Given the description of an element on the screen output the (x, y) to click on. 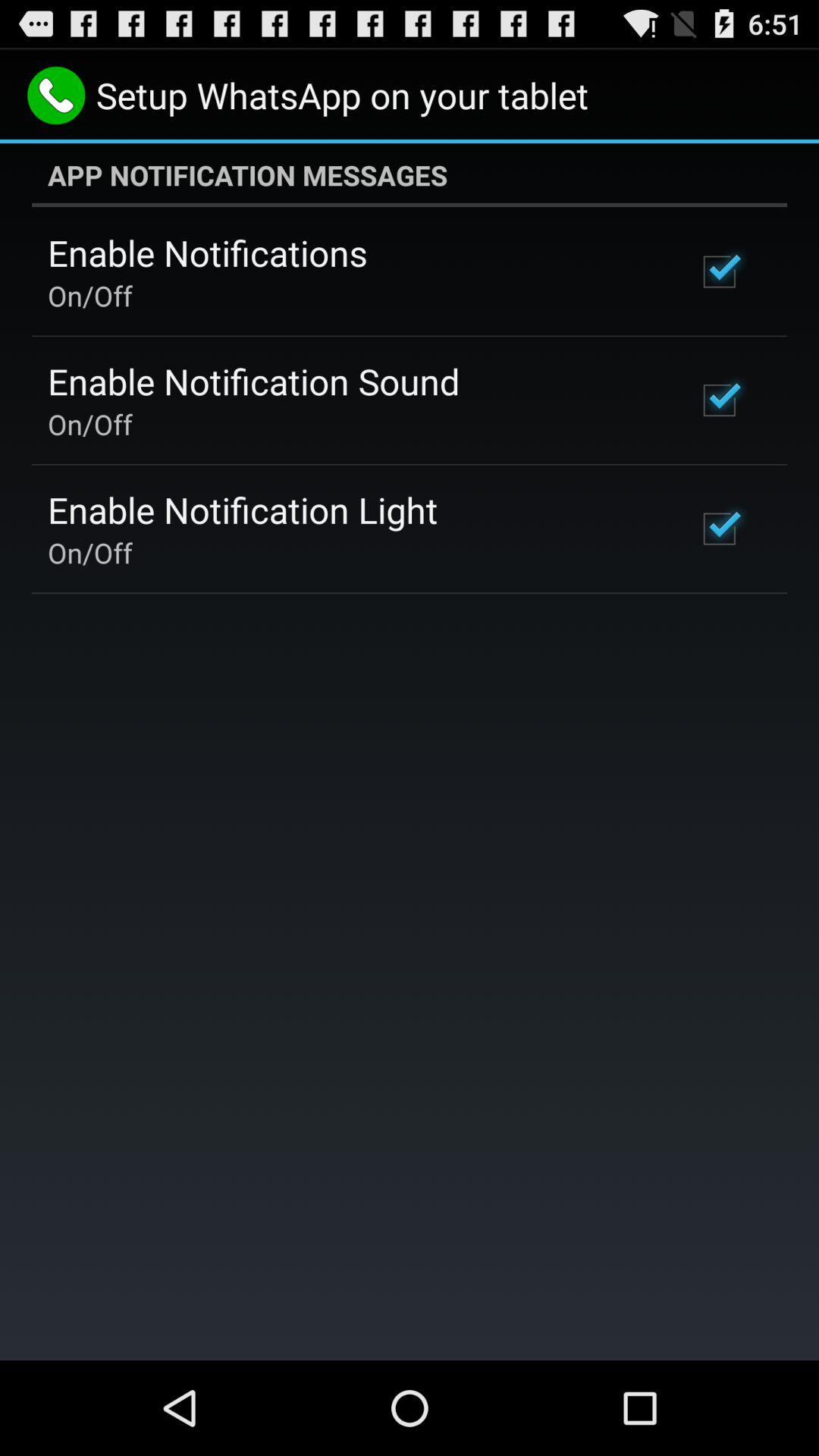
select enable notifications item (207, 252)
